Given the description of an element on the screen output the (x, y) to click on. 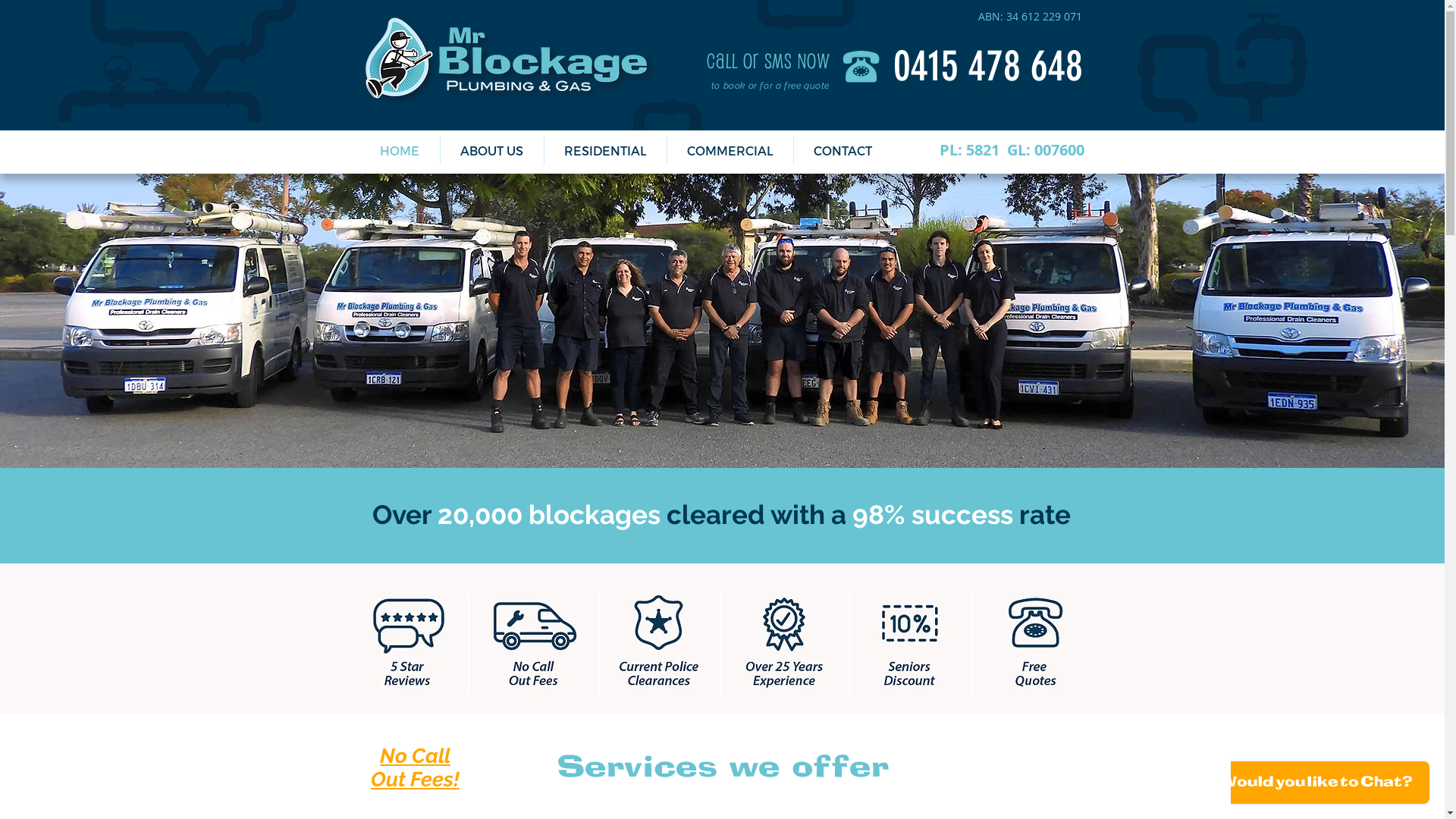
RESIDENTIAL Element type: text (605, 150)
COMMERCIAL Element type: text (730, 150)
HOME Element type: text (399, 150)
CONTACT Element type: text (842, 150)
ABOUT US Element type: text (490, 150)
